Given the description of an element on the screen output the (x, y) to click on. 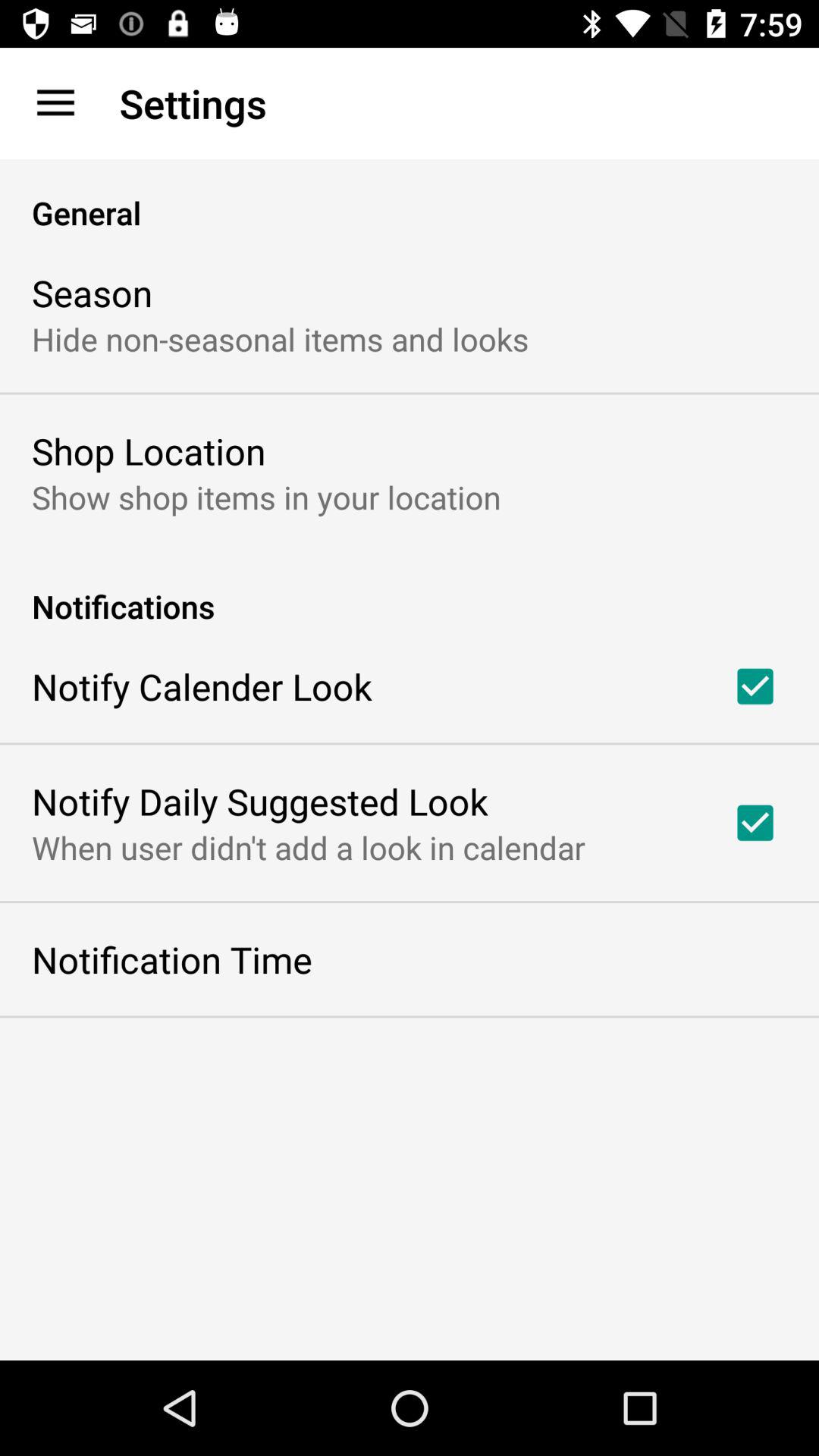
click show shop items (266, 496)
